Given the description of an element on the screen output the (x, y) to click on. 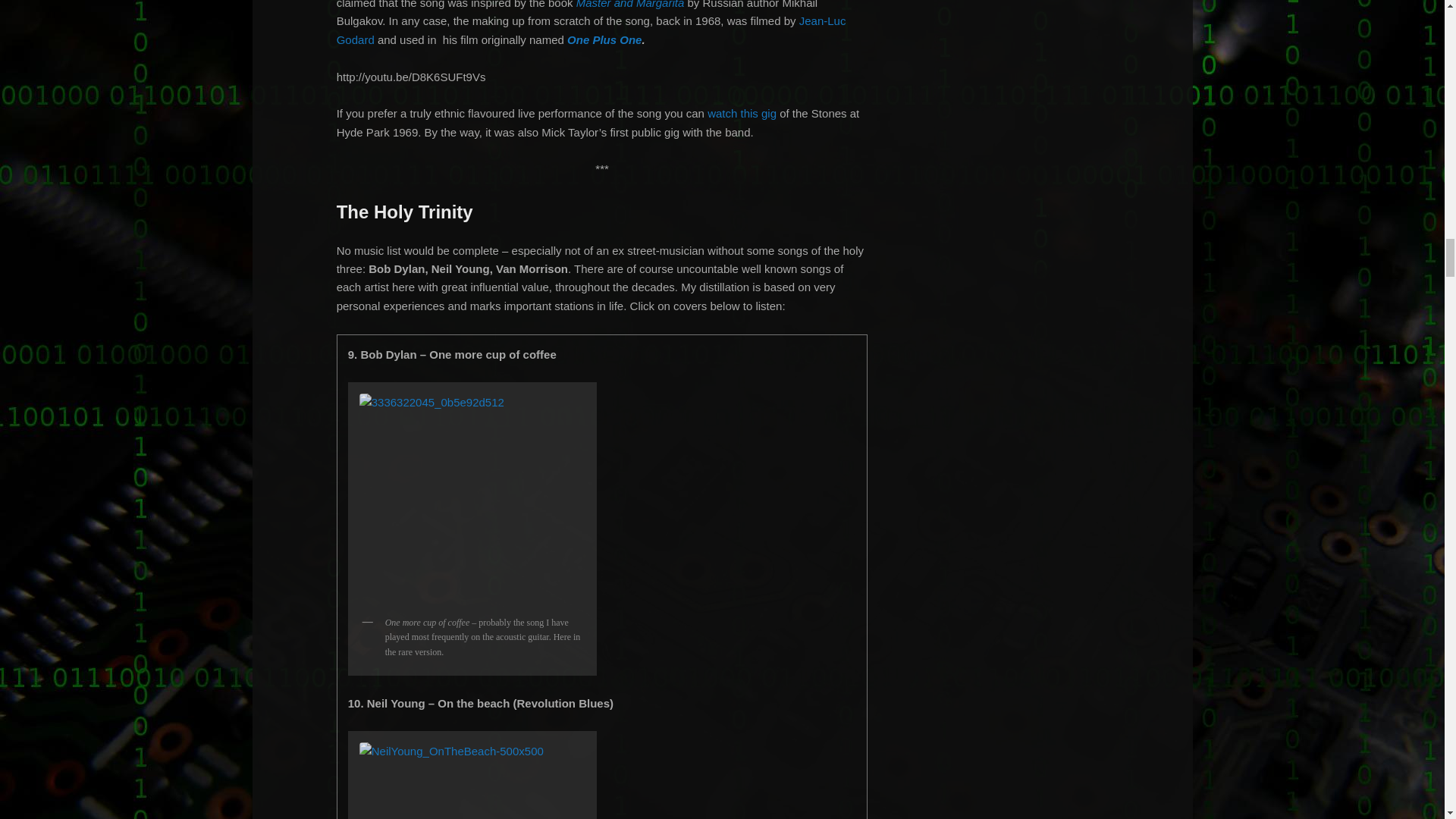
Jean-Luc Godard (590, 29)
Master and Margarita (630, 4)
watch this gig (742, 113)
One Plus One (604, 39)
